Given the description of an element on the screen output the (x, y) to click on. 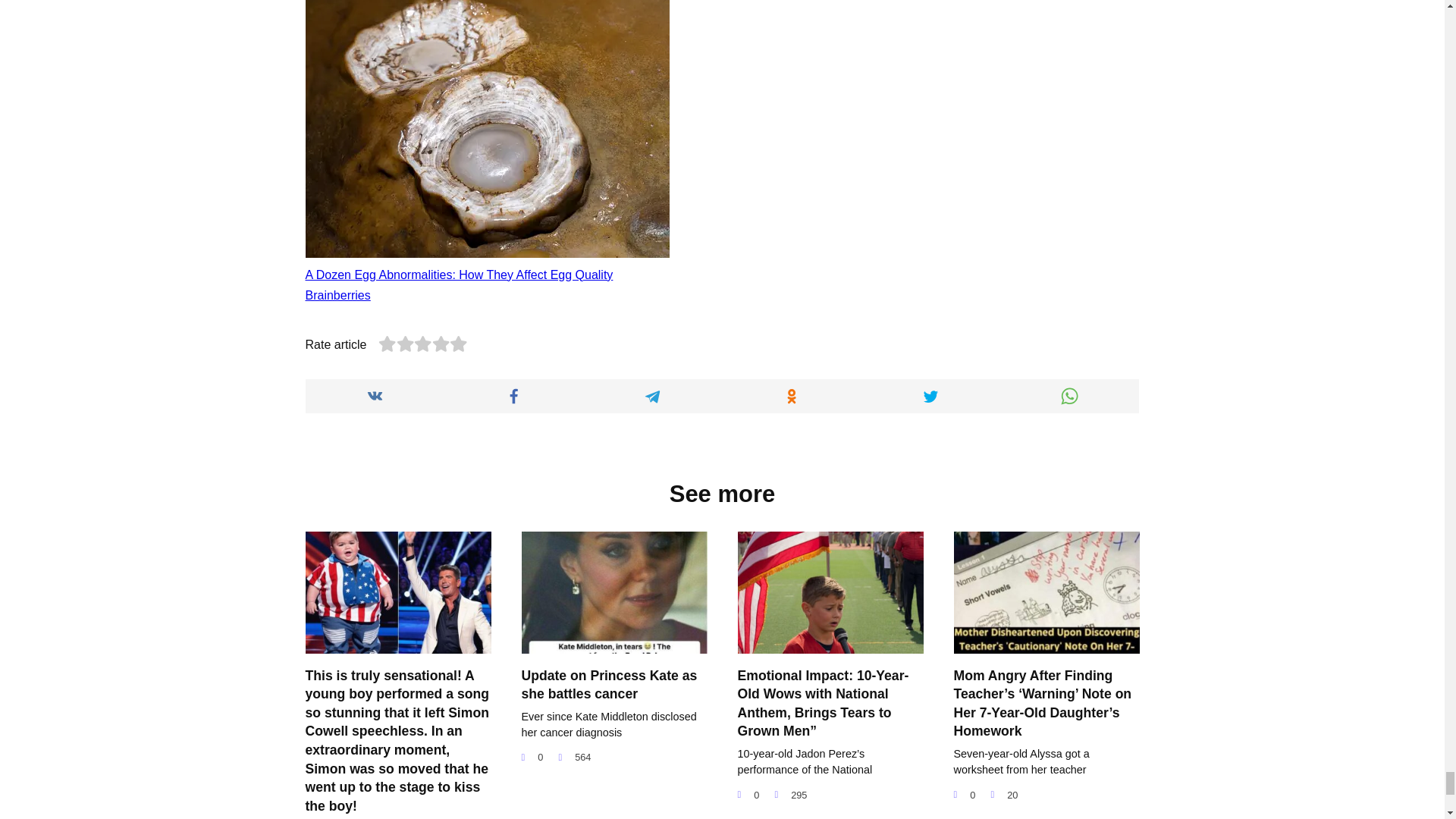
Update on Princess Kate as she battles cancer (609, 684)
